Given the description of an element on the screen output the (x, y) to click on. 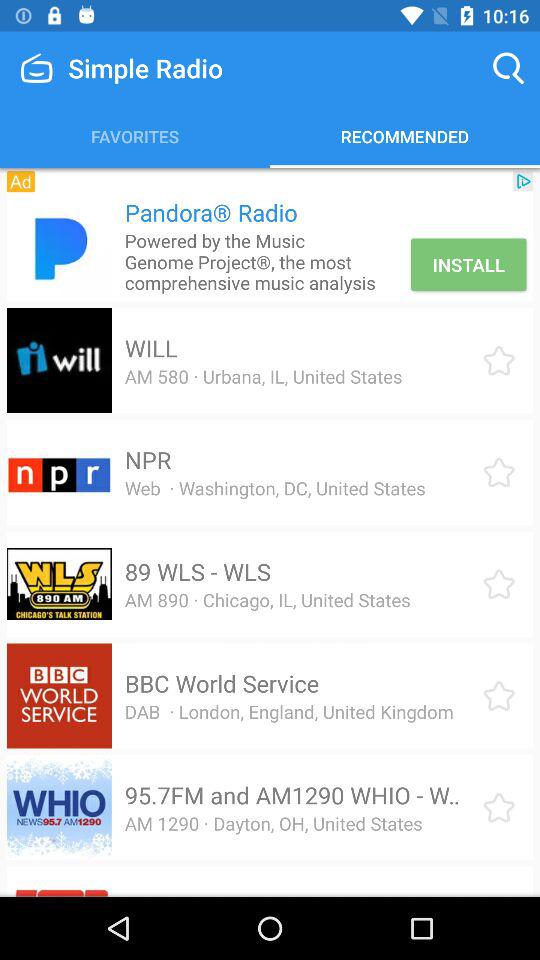
tap the will icon (150, 348)
